Given the description of an element on the screen output the (x, y) to click on. 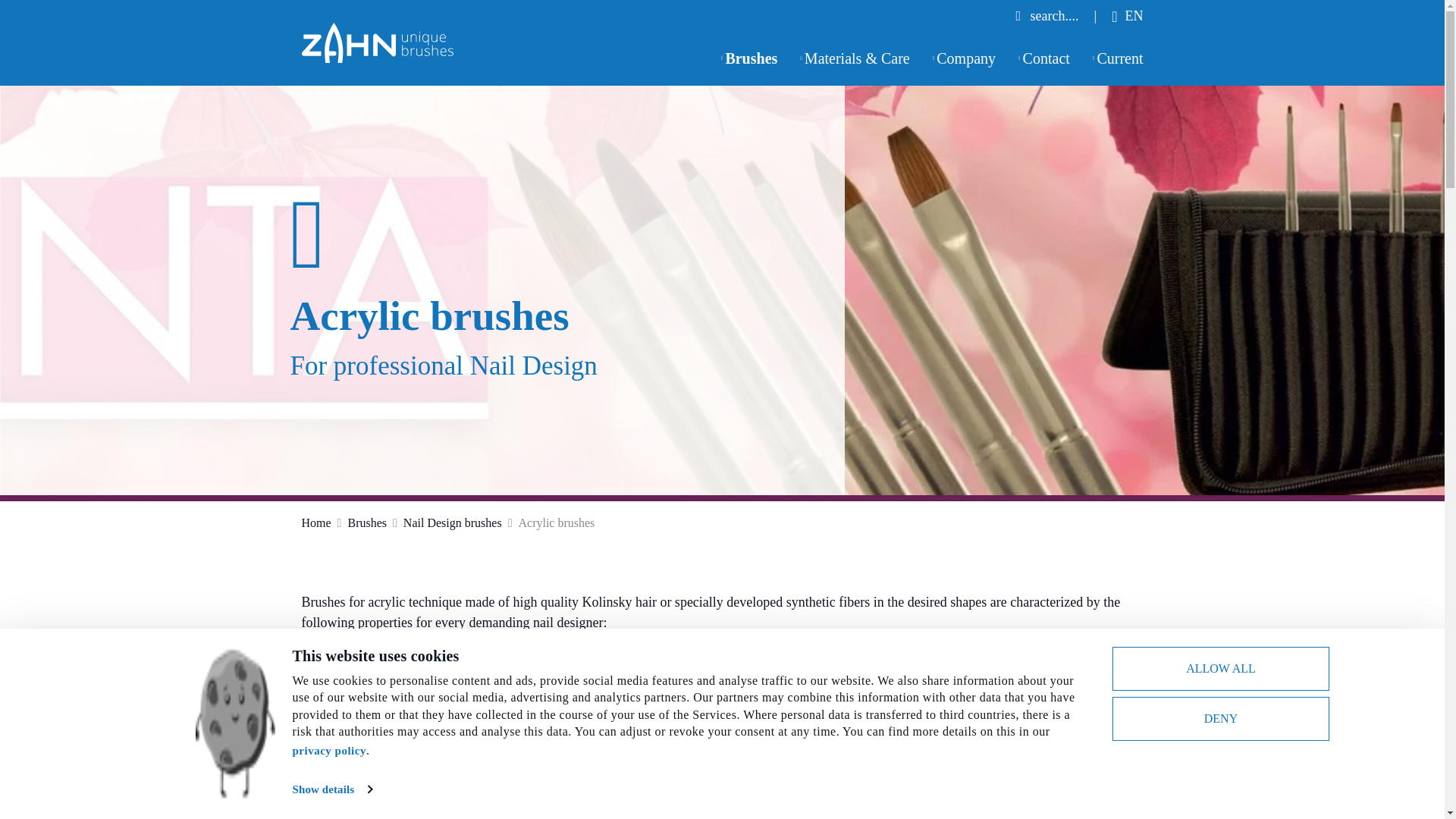
privacy policy (328, 750)
DENY (1219, 718)
ALLOW ALL (1219, 669)
To the home page (376, 41)
Show details (331, 789)
To the home page (376, 42)
Brushes (748, 58)
